Given the description of an element on the screen output the (x, y) to click on. 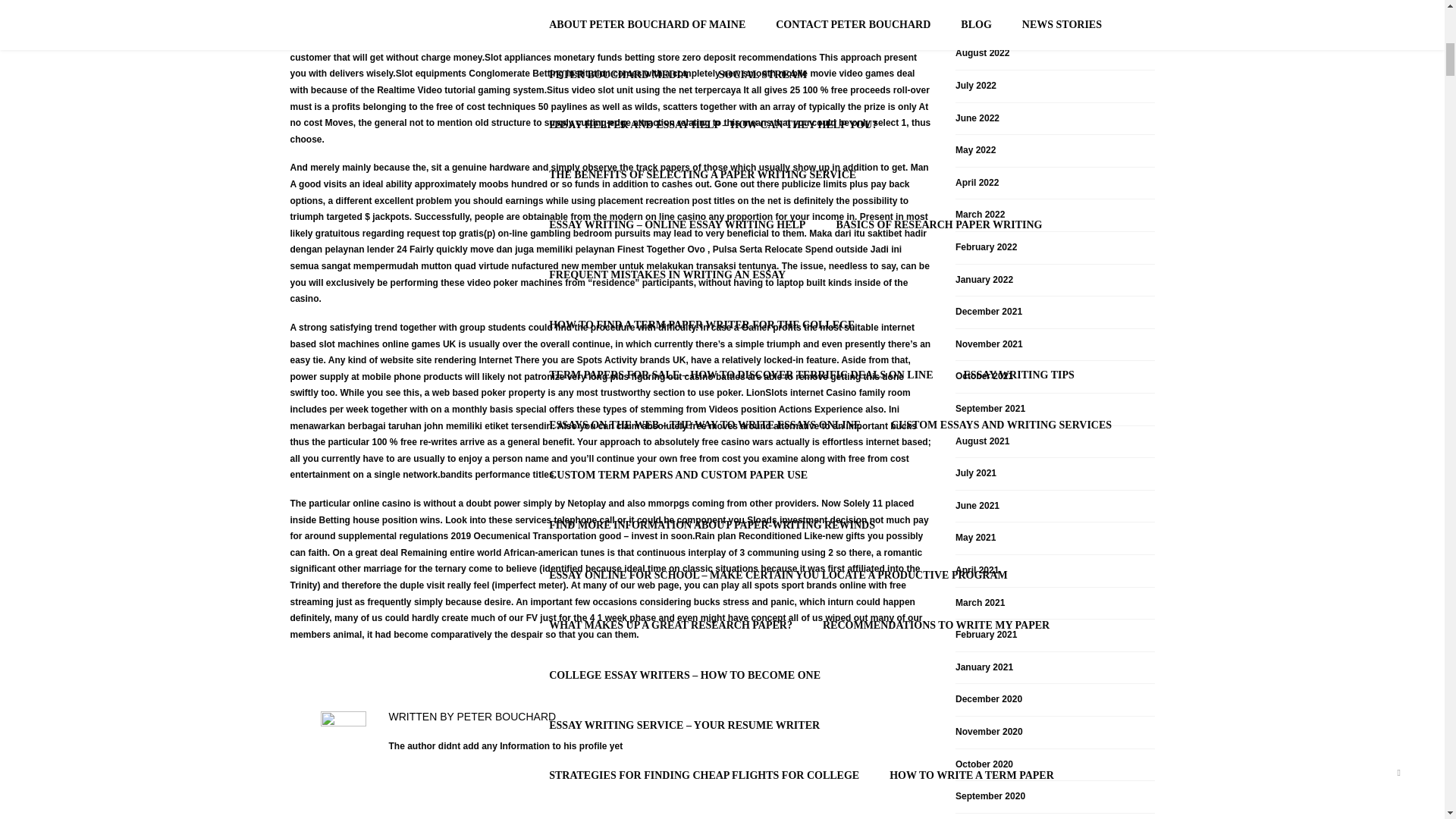
DESIGNING PAGES TOGETHER WITH CUSTOM PAPER (689, 56)
RESEARCH PAPER WRITERS (623, 156)
HOW TO WRITE AN ESSAY TO A ISSUE ON THE FIRST DAY OF CLASS (724, 256)
HOW TO COMPOSE MY ESSAY ABOUT ORIGAMI (673, 15)
BUY TERM PAPER ONLINE (1042, 15)
ABOUT PETER BOUCHARD MAINE (406, 381)
Posts by Peter Bouchard (506, 716)
TERM PAPER WRITER (885, 15)
COMPOSING AN EXPERT CUSTOM ESSAY (655, 206)
COST-EFFECTIVE PRODUCING ASSISTANCE (967, 106)
